Given the description of an element on the screen output the (x, y) to click on. 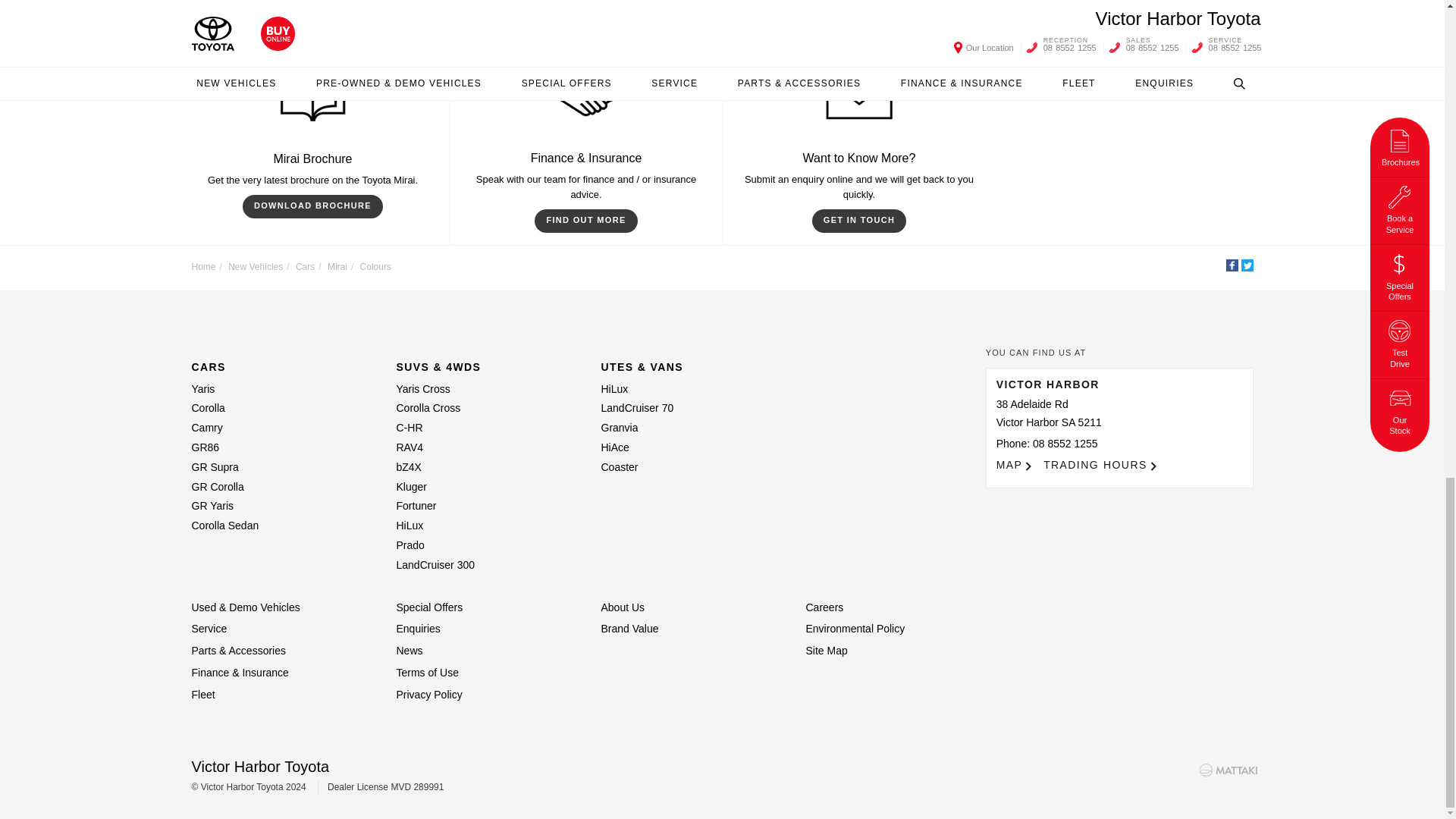
Facebook (1232, 265)
Twitter (1246, 265)
